Given the description of an element on the screen output the (x, y) to click on. 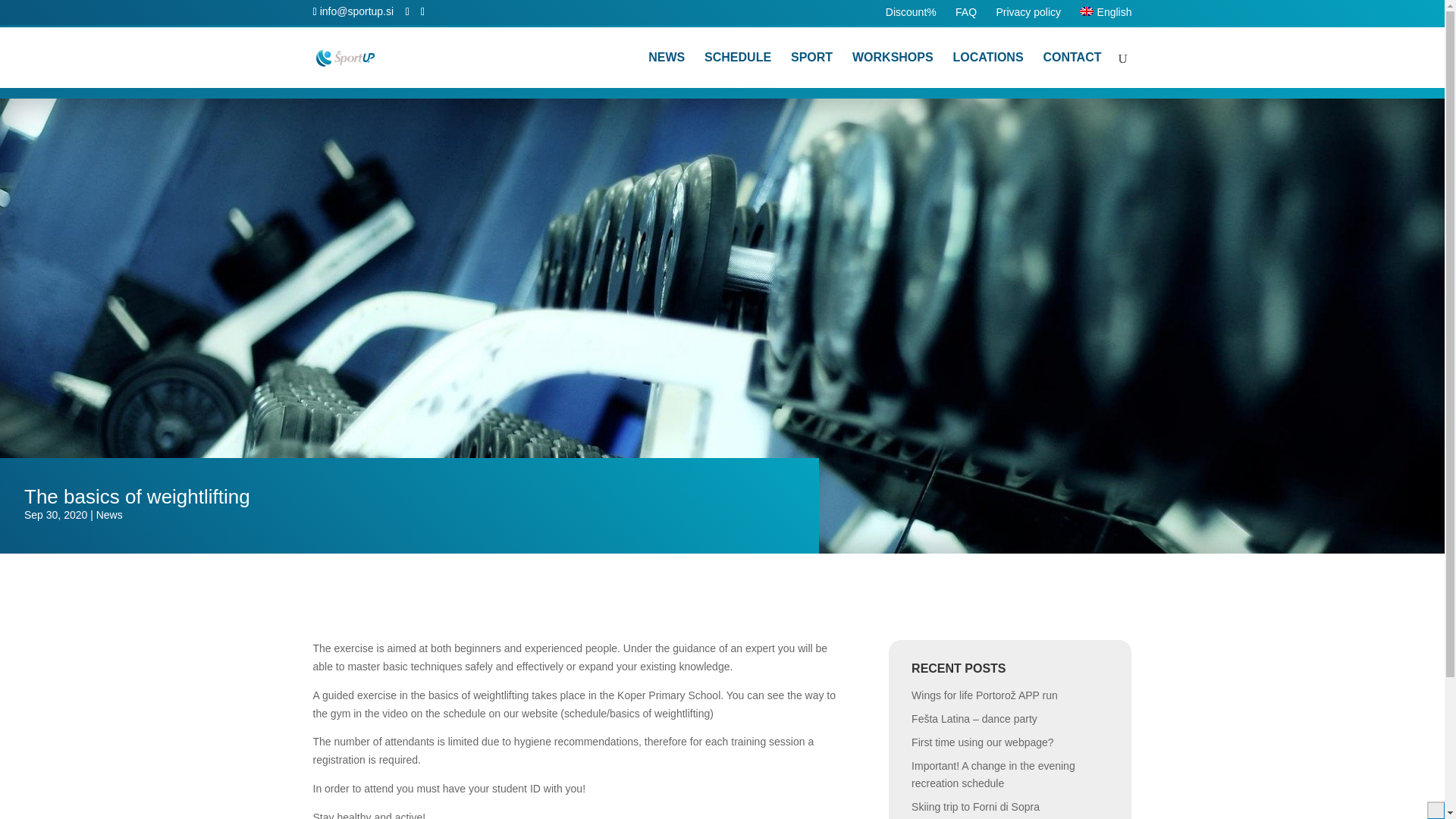
Important! A change in the evening recreation schedule (993, 775)
CONTACT (1071, 69)
First time using our webpage? (982, 742)
SCHEDULE (737, 69)
LOCATIONS (988, 69)
FAQ (965, 16)
Privacy policy (1028, 16)
NEWS (665, 69)
English (1105, 15)
SPORT (811, 69)
Skiing trip to Forni di Sopra (975, 806)
WORKSHOPS (892, 69)
News (109, 514)
